Given the description of an element on the screen output the (x, y) to click on. 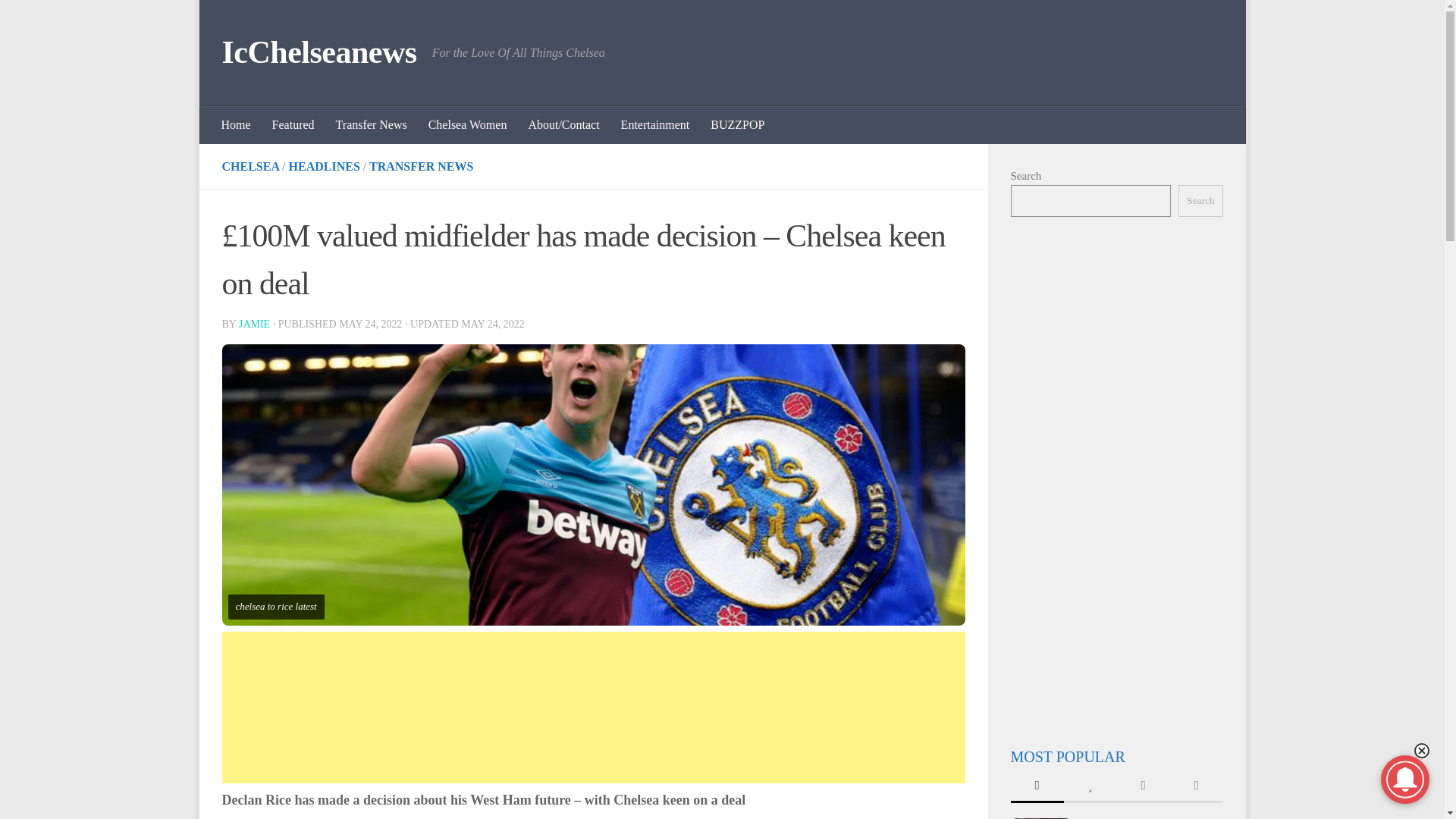
BUZZPOP (737, 125)
Home (236, 125)
Transfer News (370, 125)
Advertisement (592, 706)
Below content (255, 20)
Entertainment (655, 125)
HEADLINES (323, 165)
Featured (293, 125)
CHELSEA (250, 165)
Search (1200, 201)
